Given the description of an element on the screen output the (x, y) to click on. 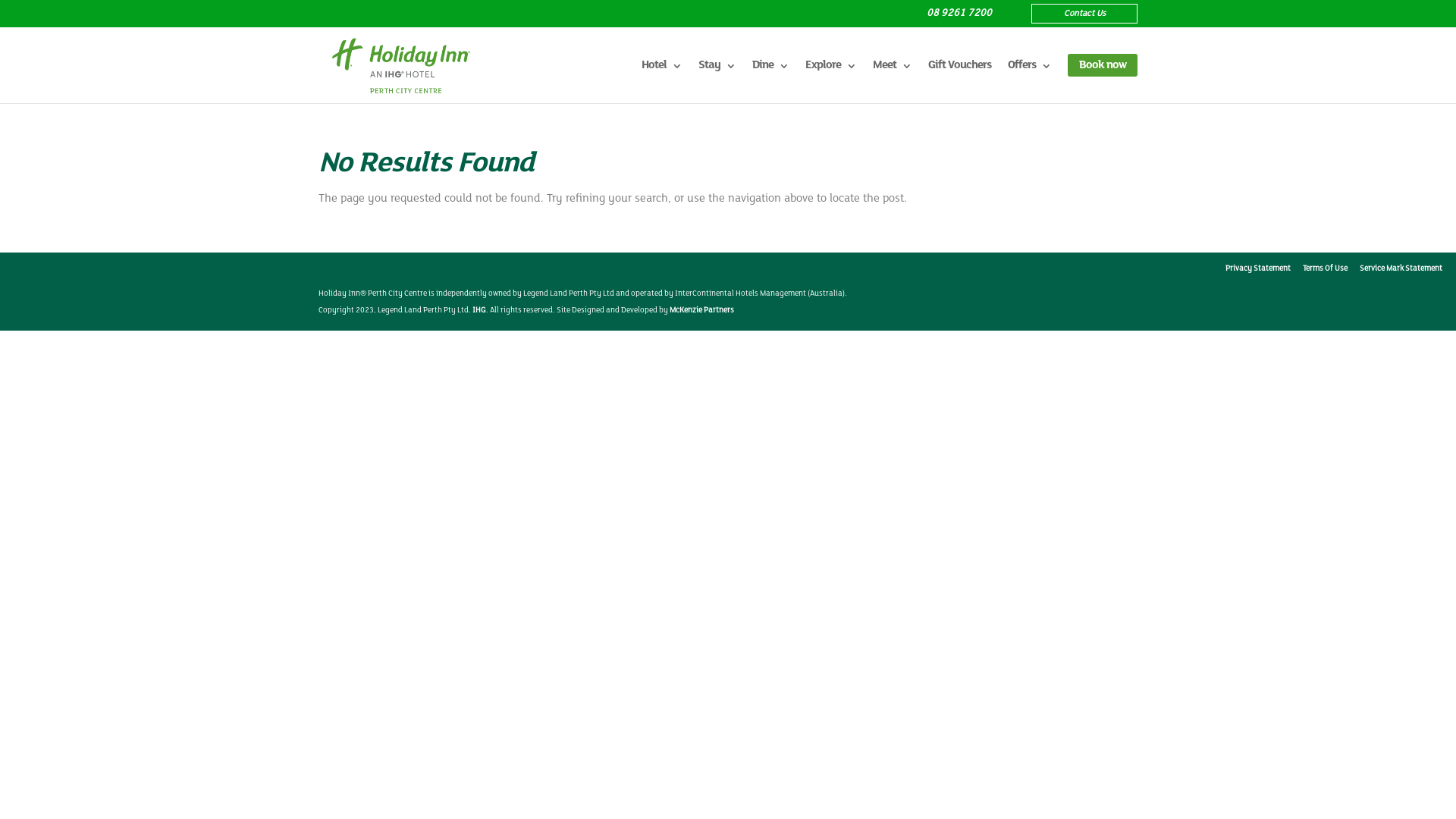
Dine Element type: text (770, 75)
Book now Element type: text (1102, 64)
McKenzie Partners Element type: text (701, 310)
Offers Element type: text (1029, 75)
Explore Element type: text (830, 75)
Privacy Statement Element type: text (1257, 268)
Contact Us Element type: text (1084, 13)
Service Mark Statement Element type: text (1400, 268)
Meet Element type: text (891, 75)
Hotel Element type: text (661, 75)
Stay Element type: text (716, 75)
Gift Vouchers Element type: text (959, 75)
08 9261 7200 Element type: text (959, 13)
IHG Element type: text (479, 310)
Terms Of Use Element type: text (1324, 268)
